Given the description of an element on the screen output the (x, y) to click on. 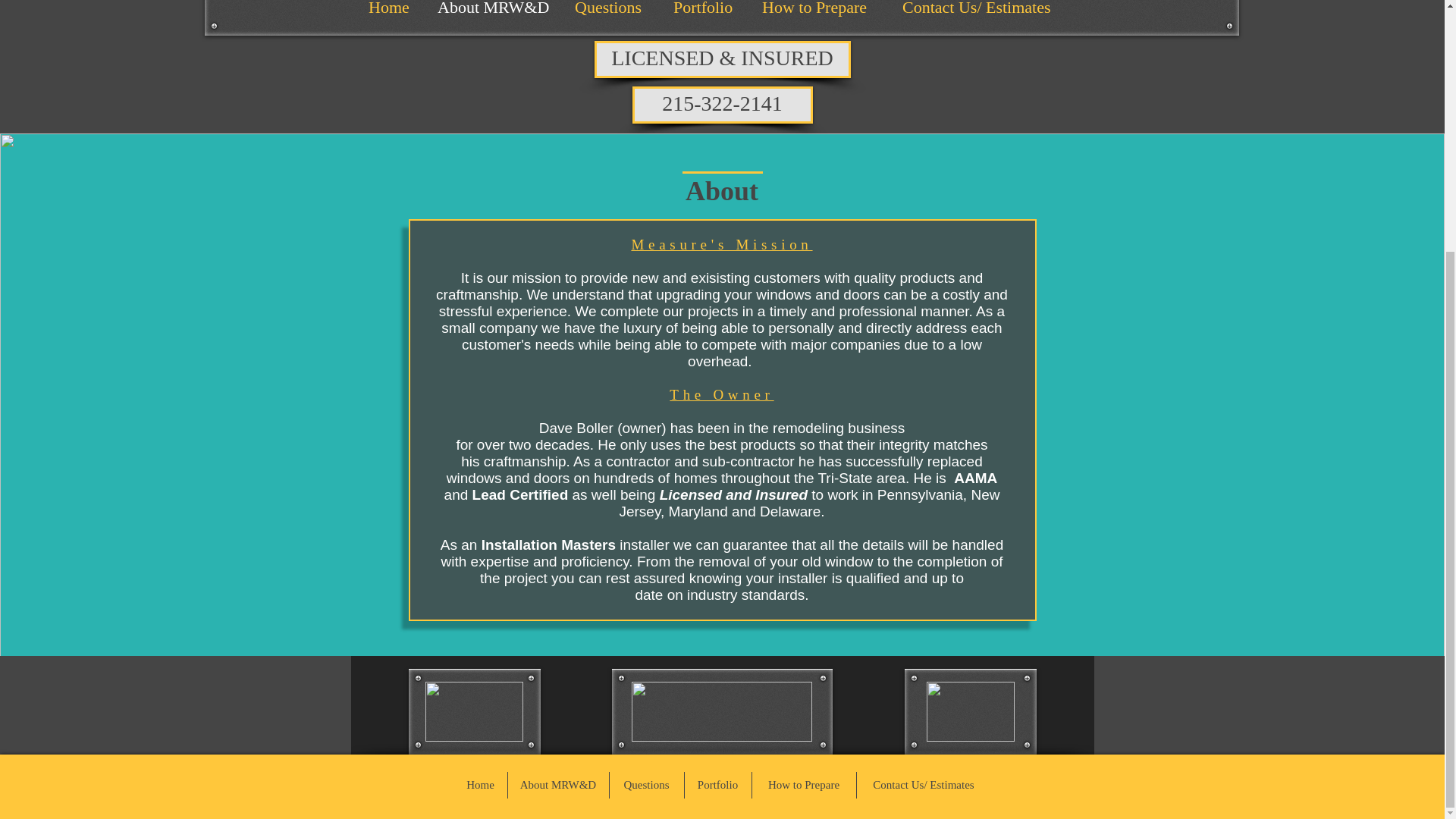
Home (390, 15)
How to Prepare (820, 15)
How to Prepare (804, 785)
Questions (647, 785)
Portfolio (717, 785)
215-322-2141 (721, 104)
Questions (612, 15)
Home (479, 785)
Portfolio (705, 15)
